Given the description of an element on the screen output the (x, y) to click on. 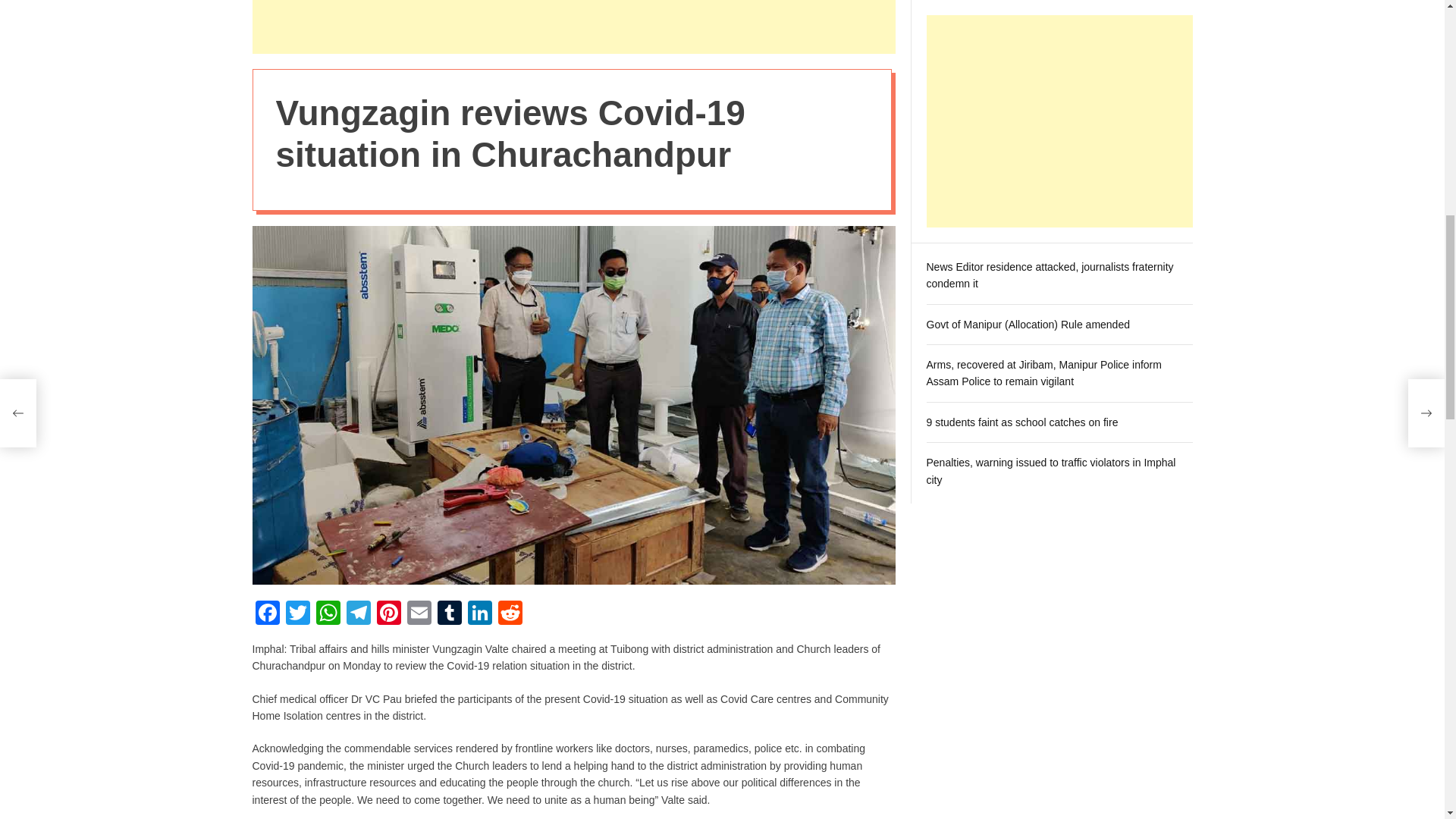
WhatsApp (327, 614)
Reddit (509, 614)
9 students faint as school catches on fire (1022, 242)
Telegram (357, 614)
Facebook (266, 614)
Tumblr (448, 614)
WhatsApp (327, 614)
Twitter (297, 614)
Facebook (266, 614)
Email (418, 614)
LinkedIn (479, 614)
Reddit (509, 614)
Pinterest (387, 614)
Telegram (357, 614)
